Given the description of an element on the screen output the (x, y) to click on. 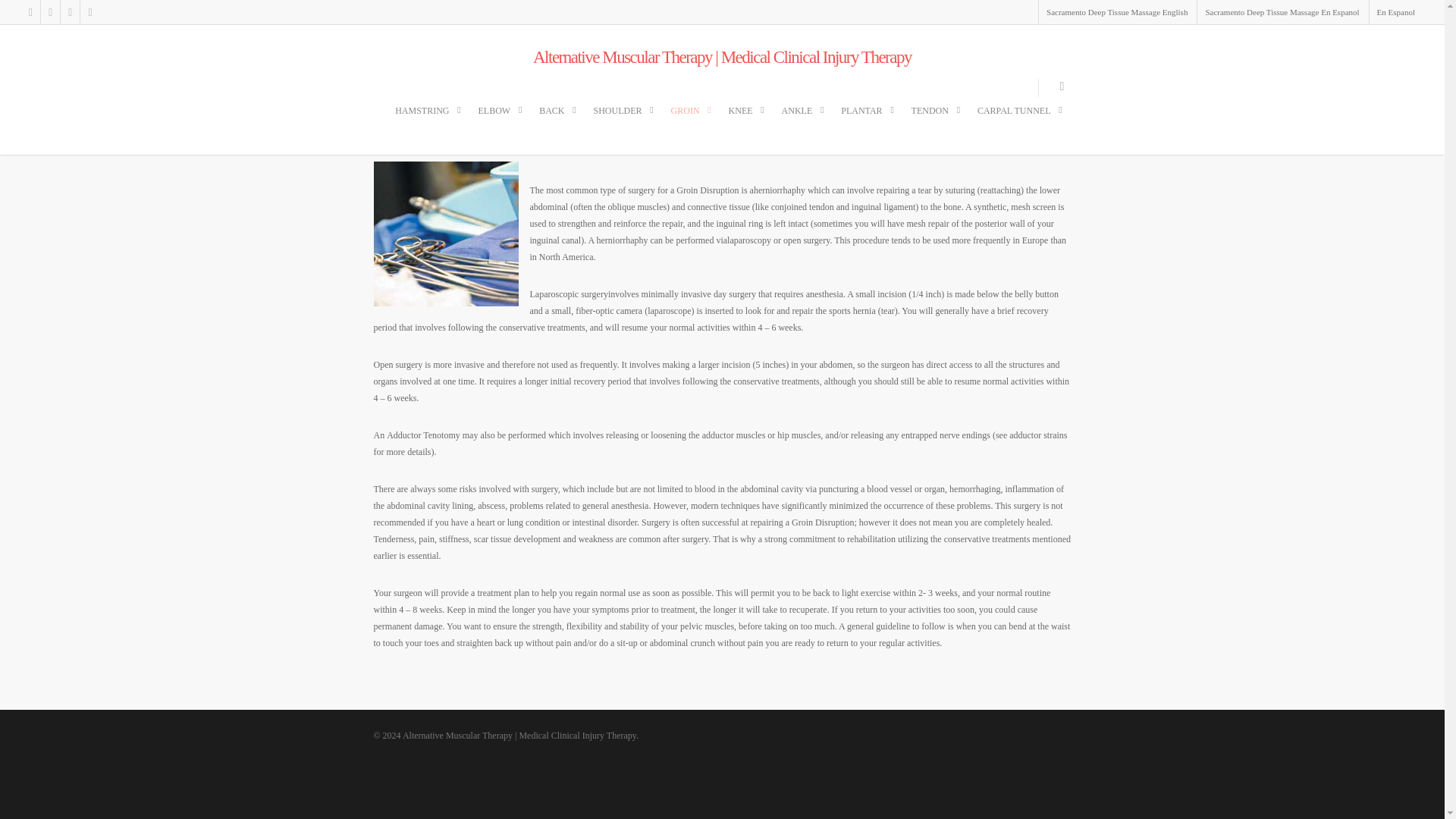
En Espanol (1395, 12)
BACK (557, 121)
surgery (445, 233)
ELBOW (500, 121)
Sacramento Deep Tissue Massage En Espanol (1281, 12)
Sacramento Deep Tissue Massage English (1116, 12)
HAMSTRING (427, 121)
